Given the description of an element on the screen output the (x, y) to click on. 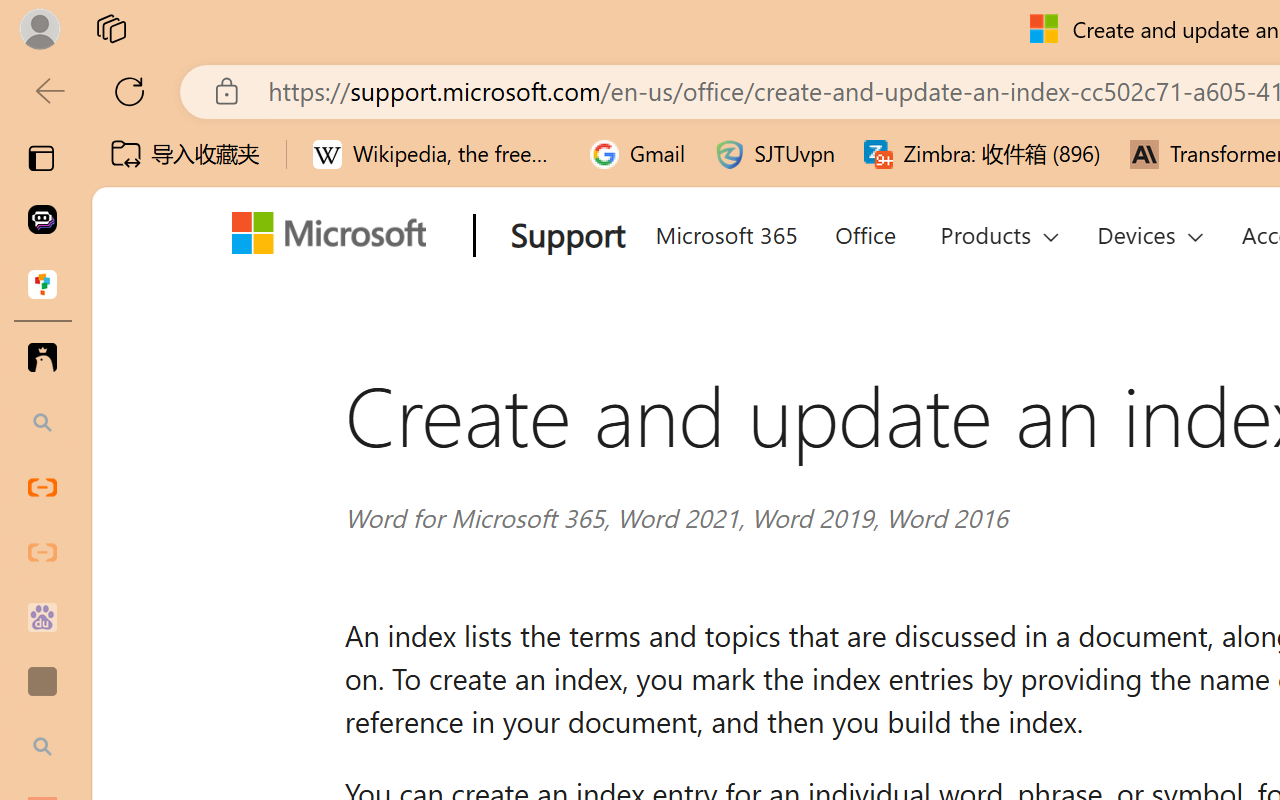
Office (864, 231)
Office (864, 232)
